Given the description of an element on the screen output the (x, y) to click on. 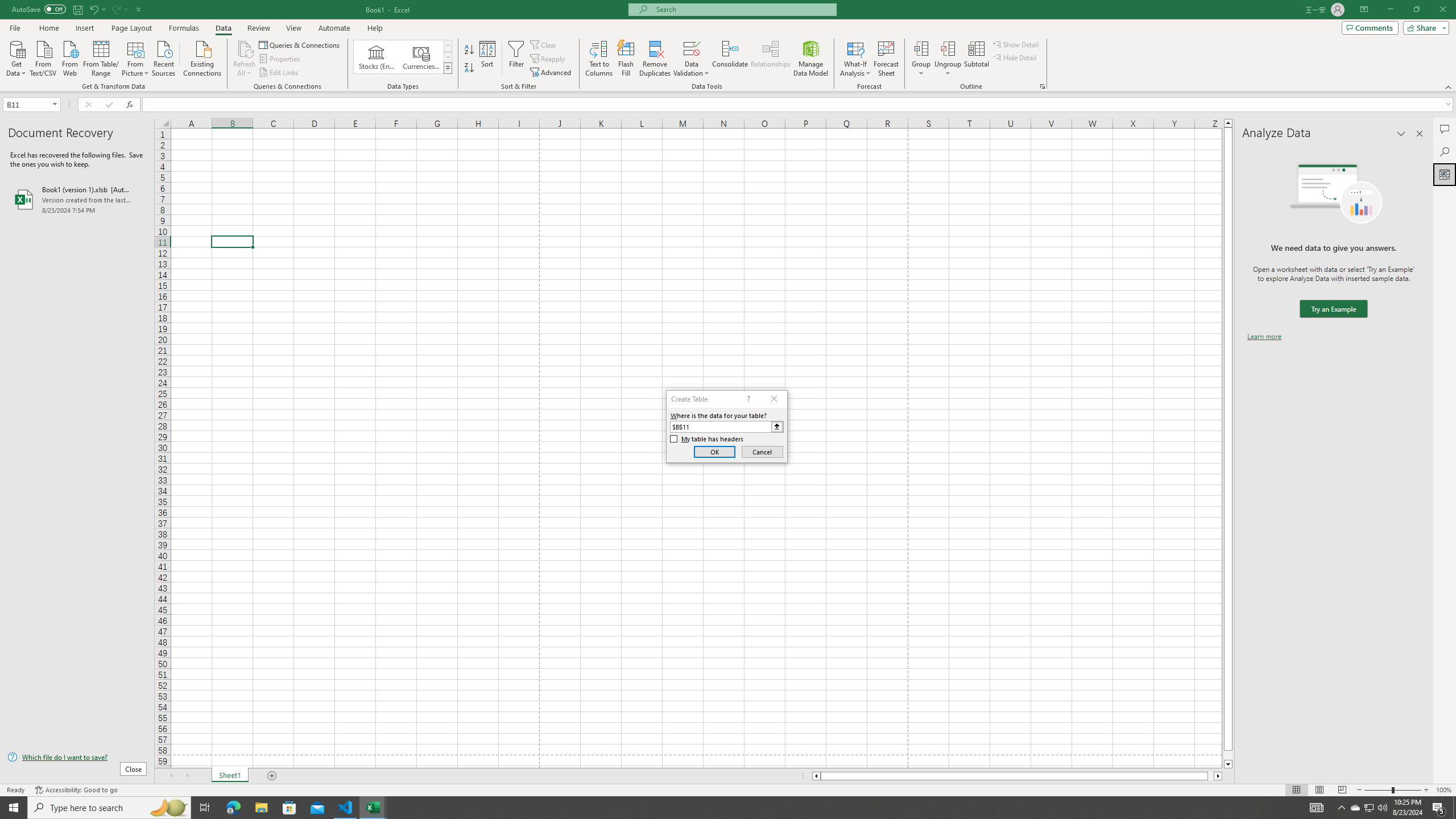
Sort A to Z (469, 49)
